Given the description of an element on the screen output the (x, y) to click on. 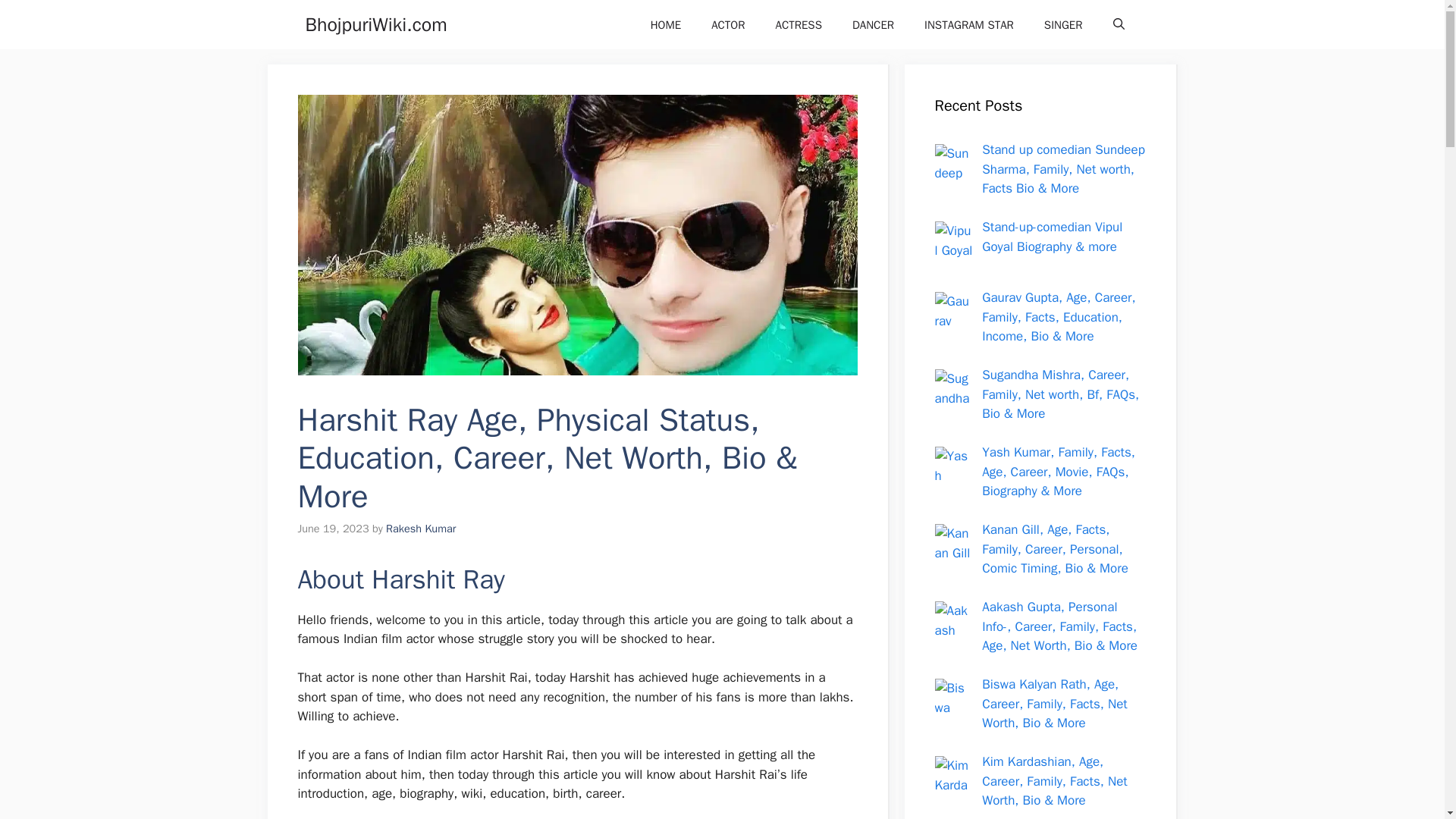
ACTOR (727, 23)
ACTRESS (797, 23)
View all posts by Rakesh Kumar (420, 528)
INSTAGRAM STAR (968, 23)
SINGER (1063, 23)
DANCER (872, 23)
HOME (664, 23)
Rakesh Kumar (420, 528)
BhojpuriWiki.com (375, 24)
